Given the description of an element on the screen output the (x, y) to click on. 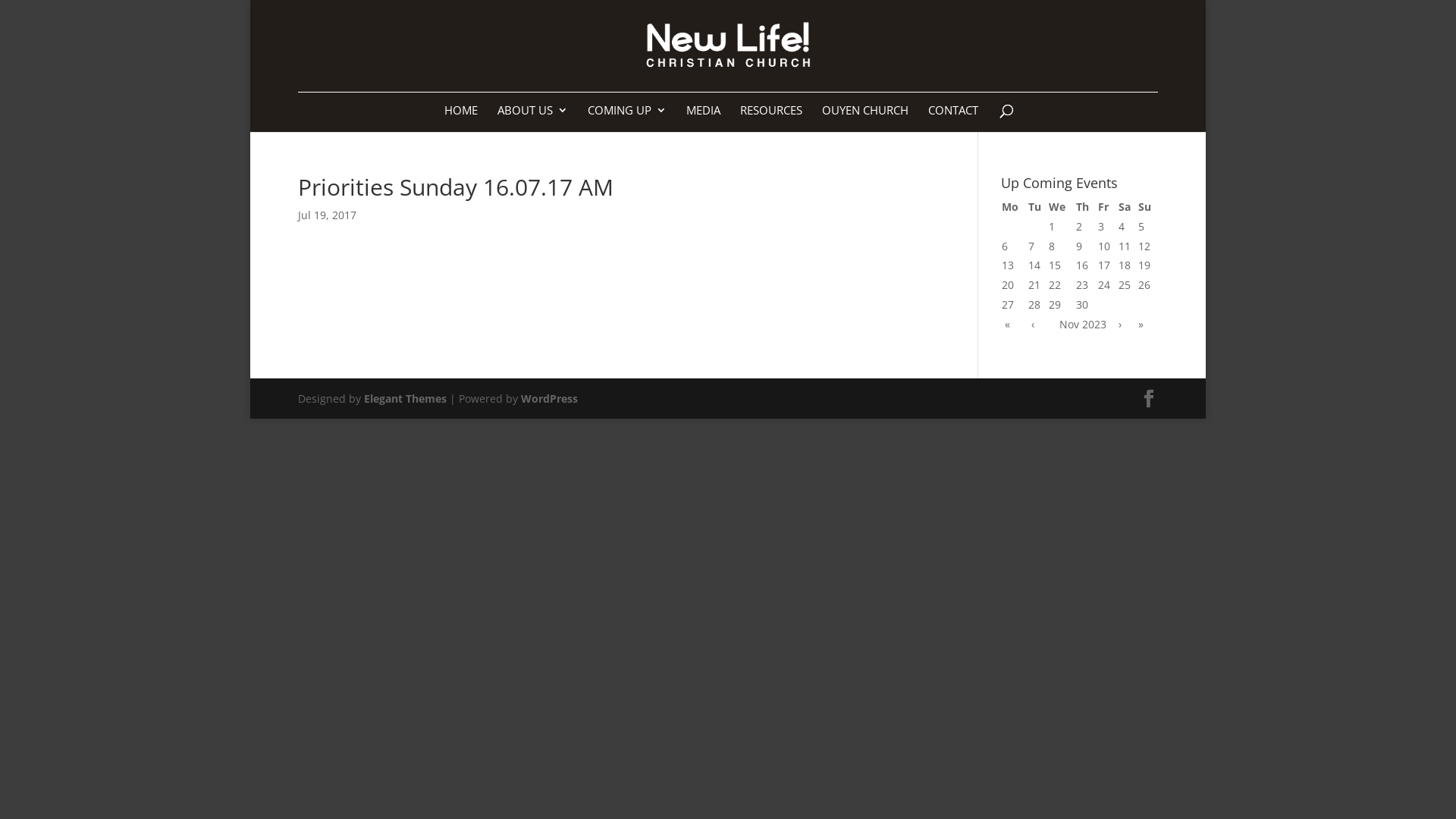
COMING UP Element type: text (626, 117)
RESOURCES Element type: text (771, 117)
OUYEN CHURCH Element type: text (865, 117)
MEDIA Element type: text (703, 117)
WordPress Element type: text (548, 398)
ABOUT US Element type: text (532, 117)
HOME Element type: text (460, 117)
Elegant Themes Element type: text (405, 398)
CONTACT Element type: text (953, 117)
Nov 2023 Element type: text (1082, 323)
